Given the description of an element on the screen output the (x, y) to click on. 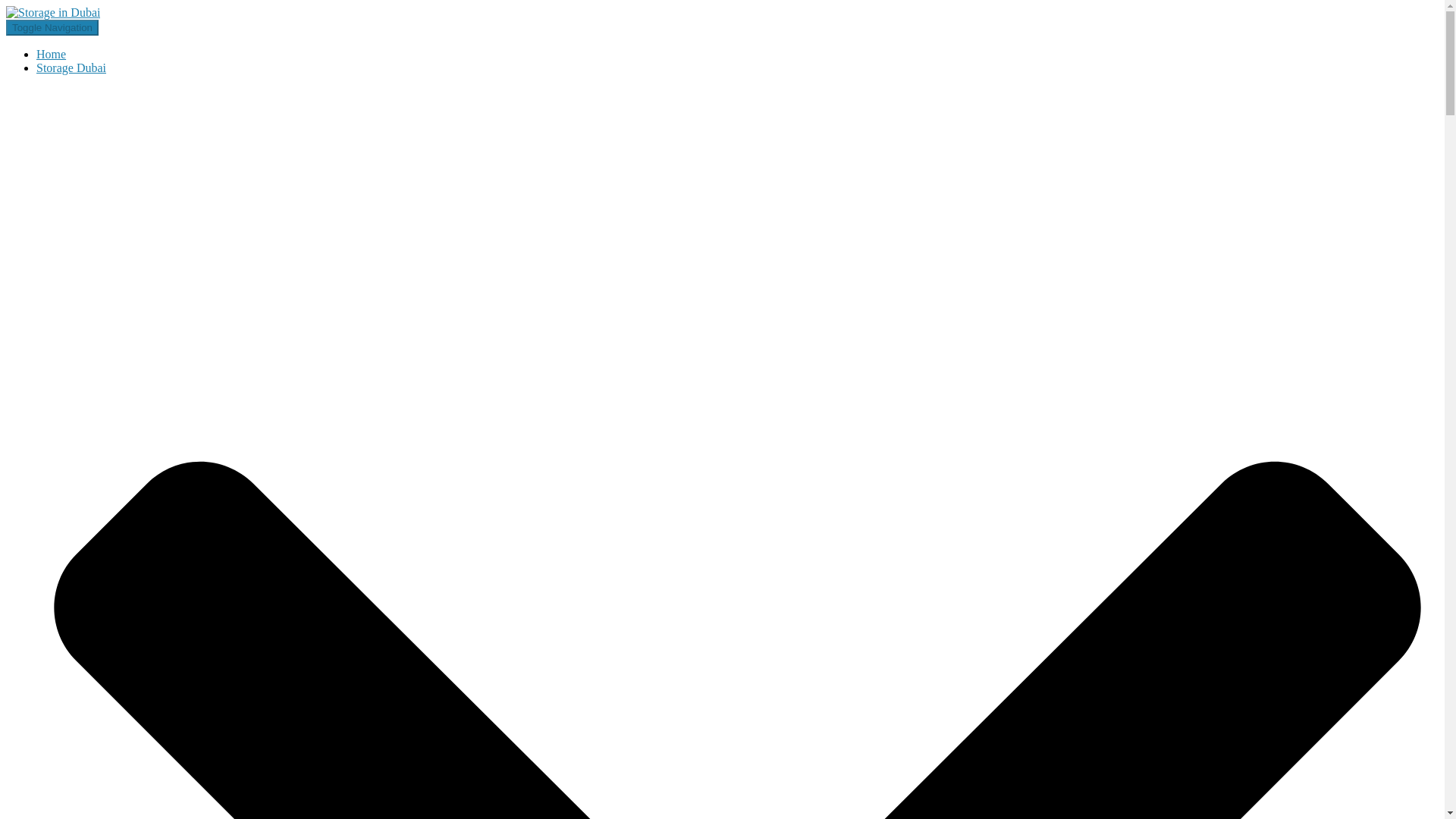
Home (50, 53)
Home (50, 53)
Storage in Dubai (52, 11)
Toggle Navigation (52, 27)
